Given the description of an element on the screen output the (x, y) to click on. 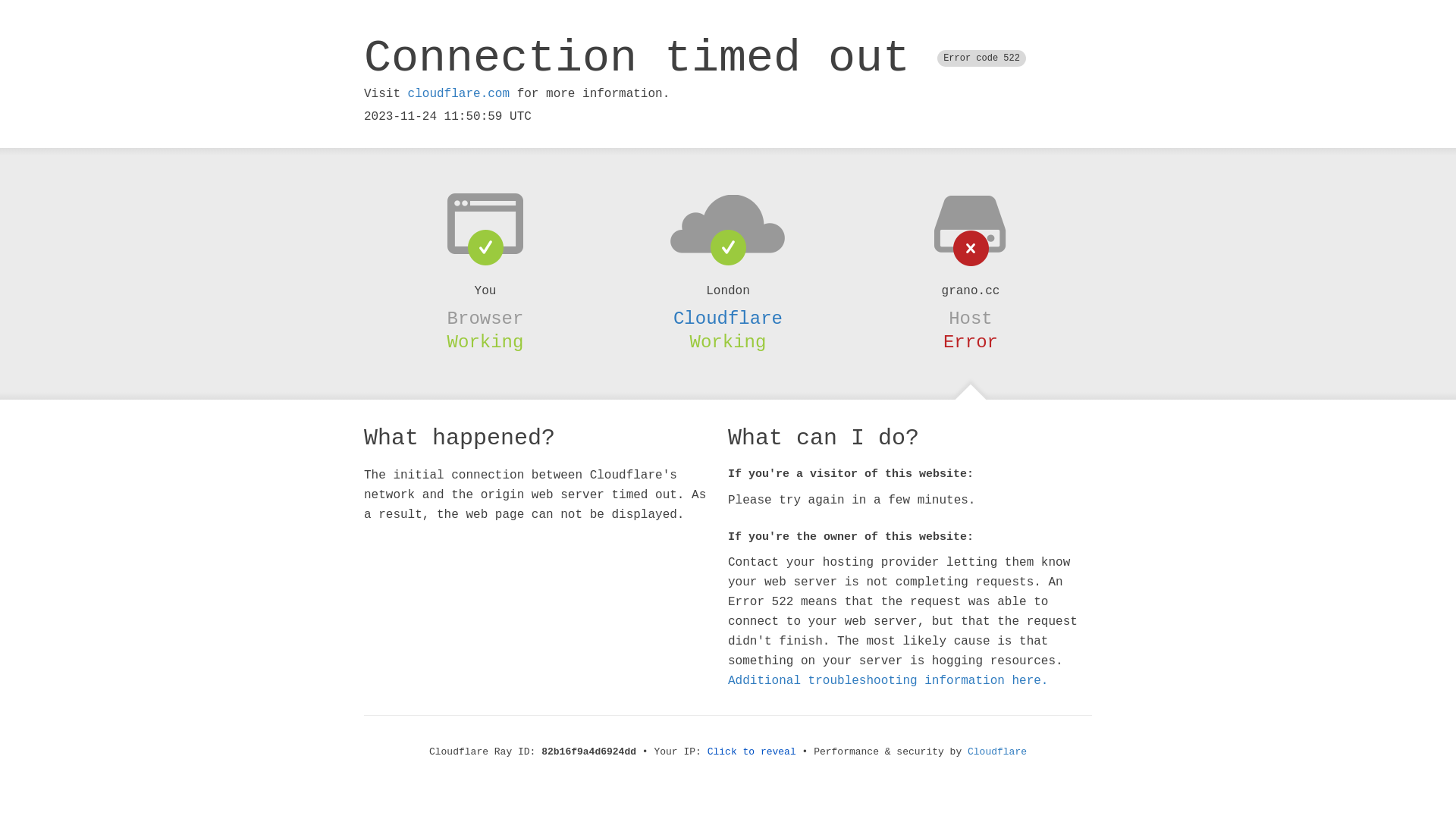
Cloudflare Element type: text (727, 318)
Click to reveal Element type: text (751, 751)
Additional troubleshooting information here. Element type: text (888, 680)
Cloudflare Element type: text (996, 751)
cloudflare.com Element type: text (458, 93)
